Given the description of an element on the screen output the (x, y) to click on. 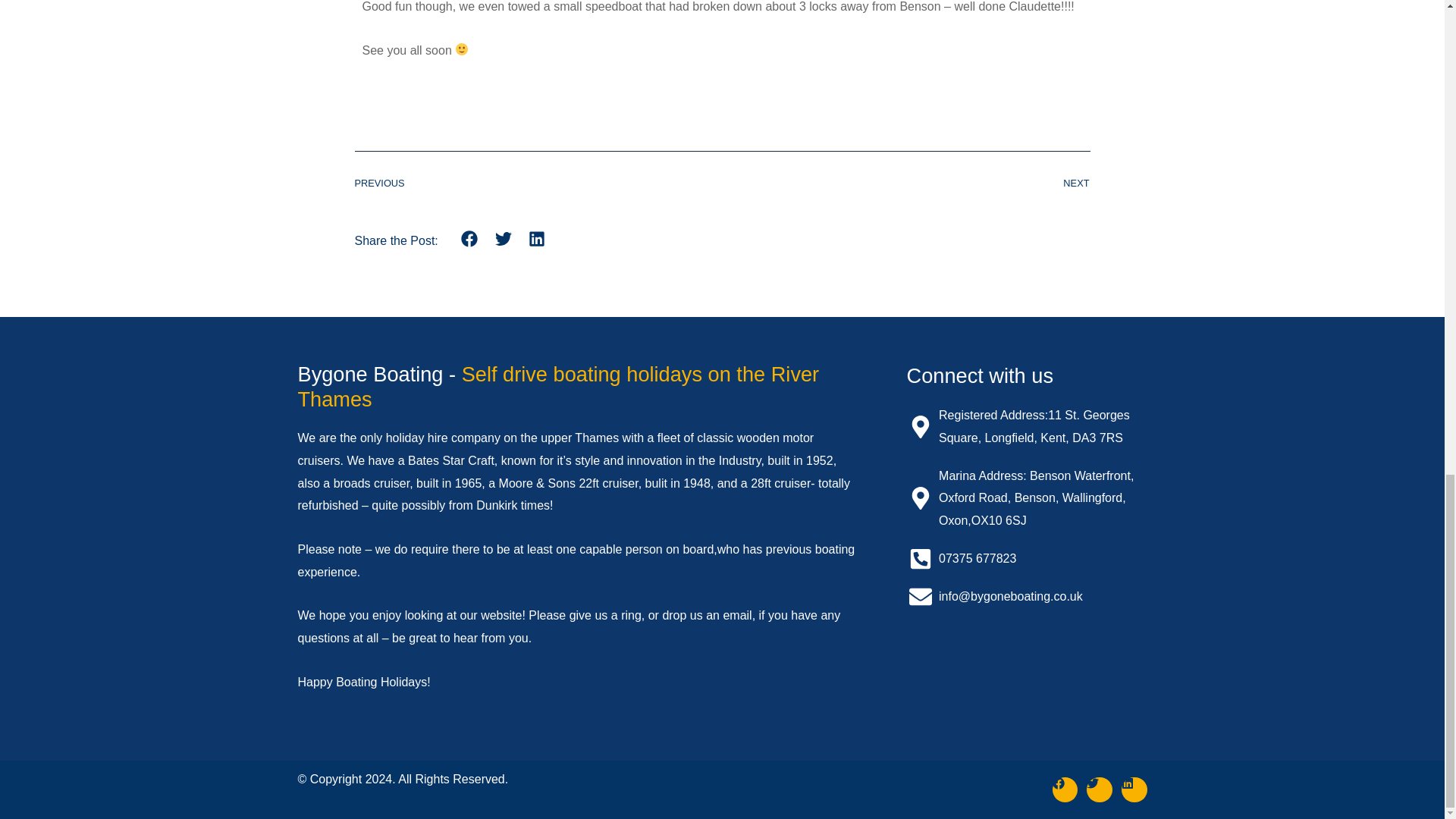
07375 677823 (1027, 558)
NEXT (905, 183)
Linkedin (1134, 790)
Facebook (1065, 790)
PREVIOUS (538, 183)
Twitter (1099, 790)
